Given the description of an element on the screen output the (x, y) to click on. 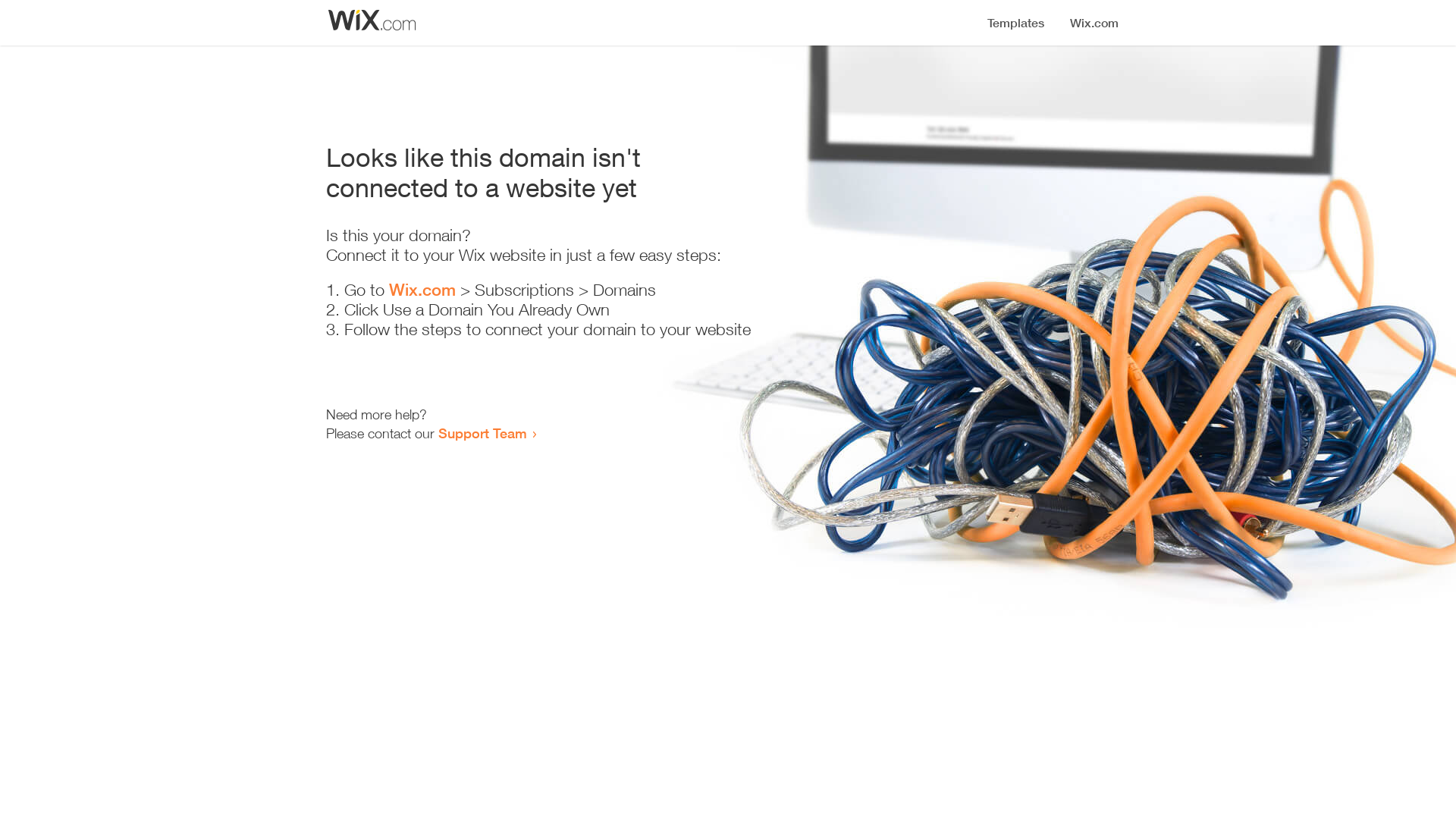
Support Team Element type: text (482, 432)
Wix.com Element type: text (422, 289)
